Given the description of an element on the screen output the (x, y) to click on. 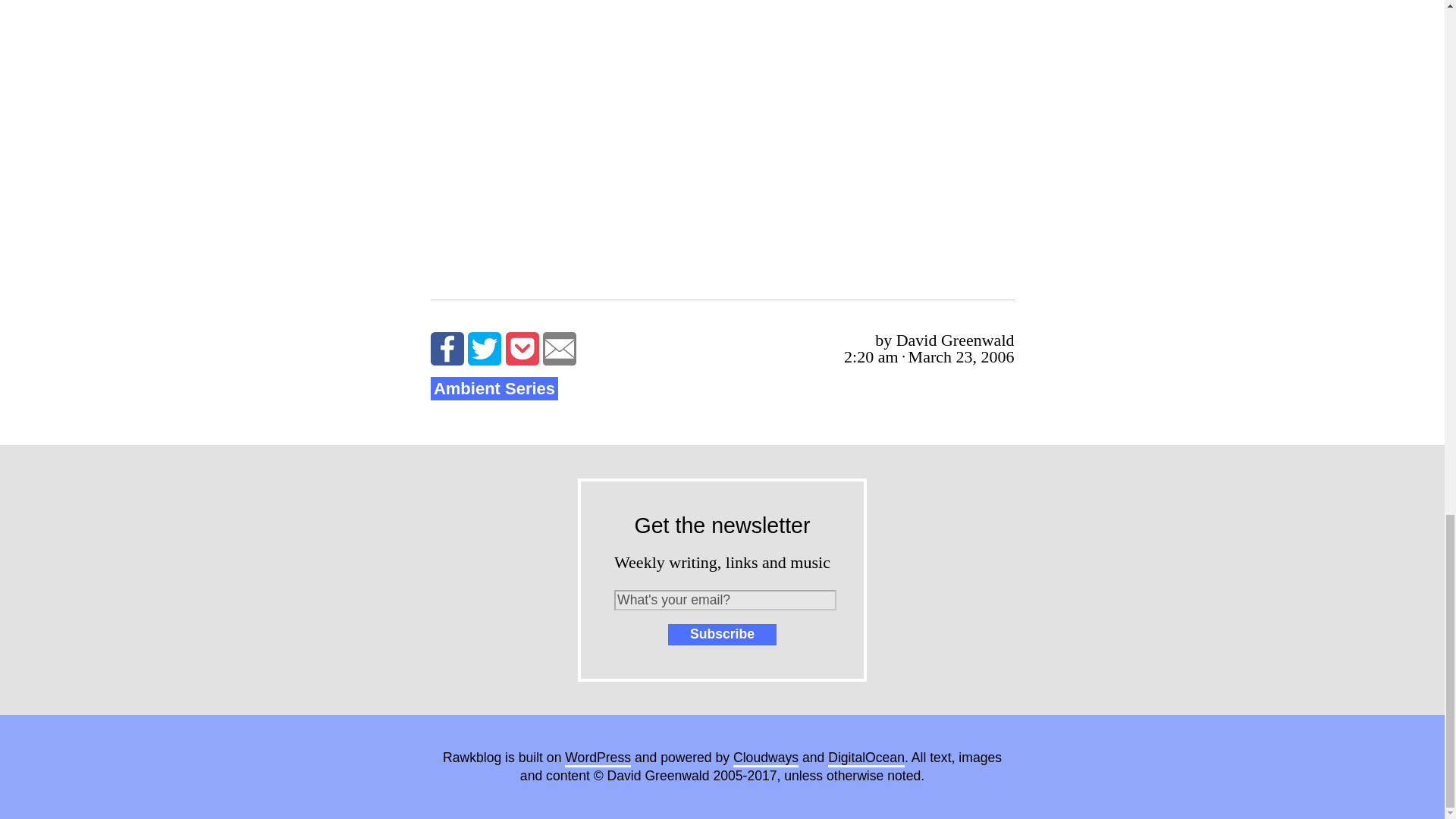
Email to a friend (559, 348)
WordPress (597, 758)
Cloudways (765, 758)
Ambient Series (494, 388)
Share on Facebook (447, 348)
What's your email? (724, 599)
DigitalOcean (866, 758)
Save to Pocket (521, 348)
Subscribe (722, 634)
Subscribe (722, 634)
